Given the description of an element on the screen output the (x, y) to click on. 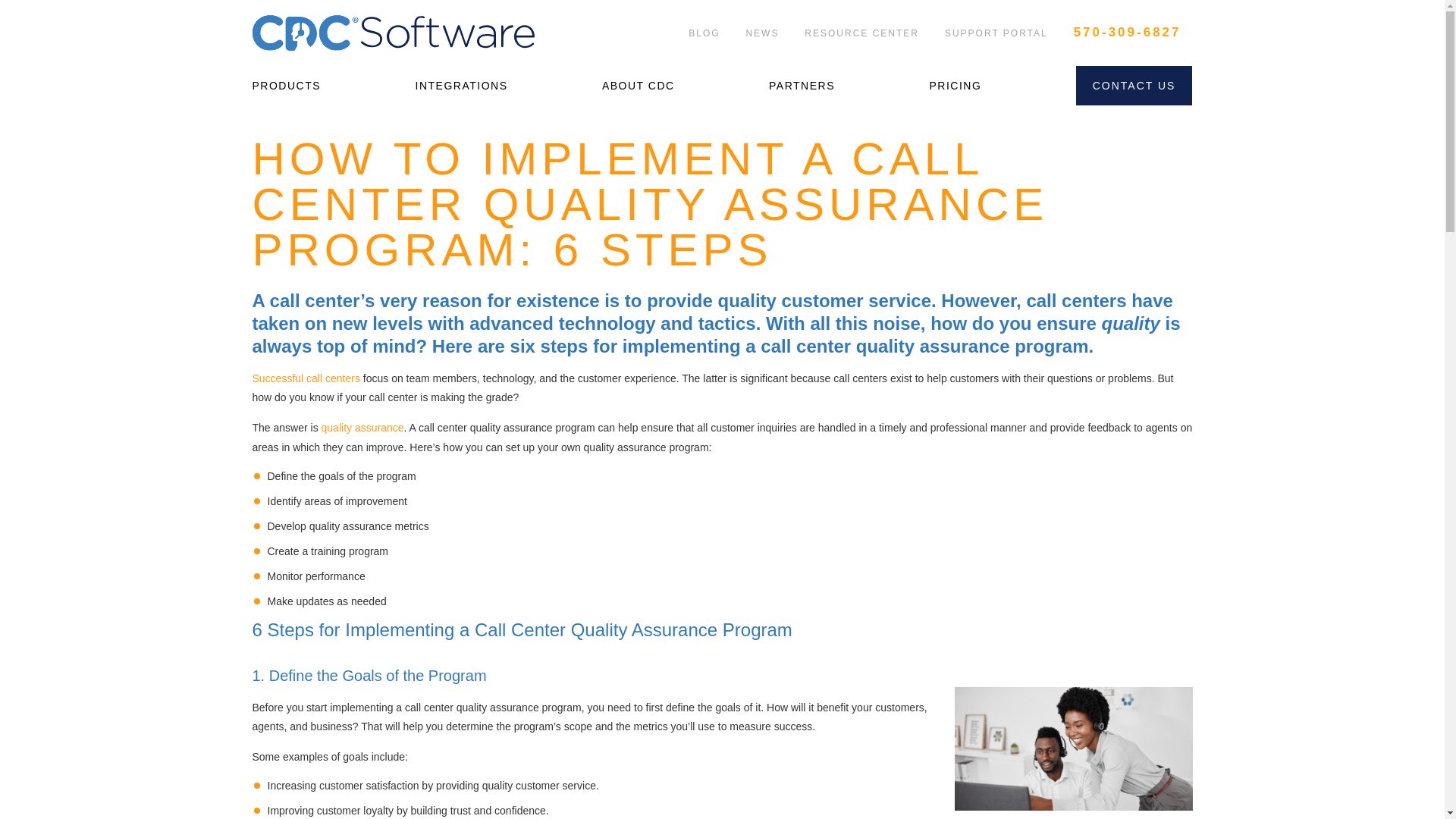
RESOURCE CENTER (861, 33)
PARTNERS (801, 84)
INTEGRATIONS (461, 84)
CONTACT US (1134, 85)
NEWS (761, 33)
570-309-6827 (1127, 32)
SUPPORT PORTAL (996, 33)
BLOG (703, 33)
ABOUT CDC (638, 84)
PRICING (954, 84)
